Given the description of an element on the screen output the (x, y) to click on. 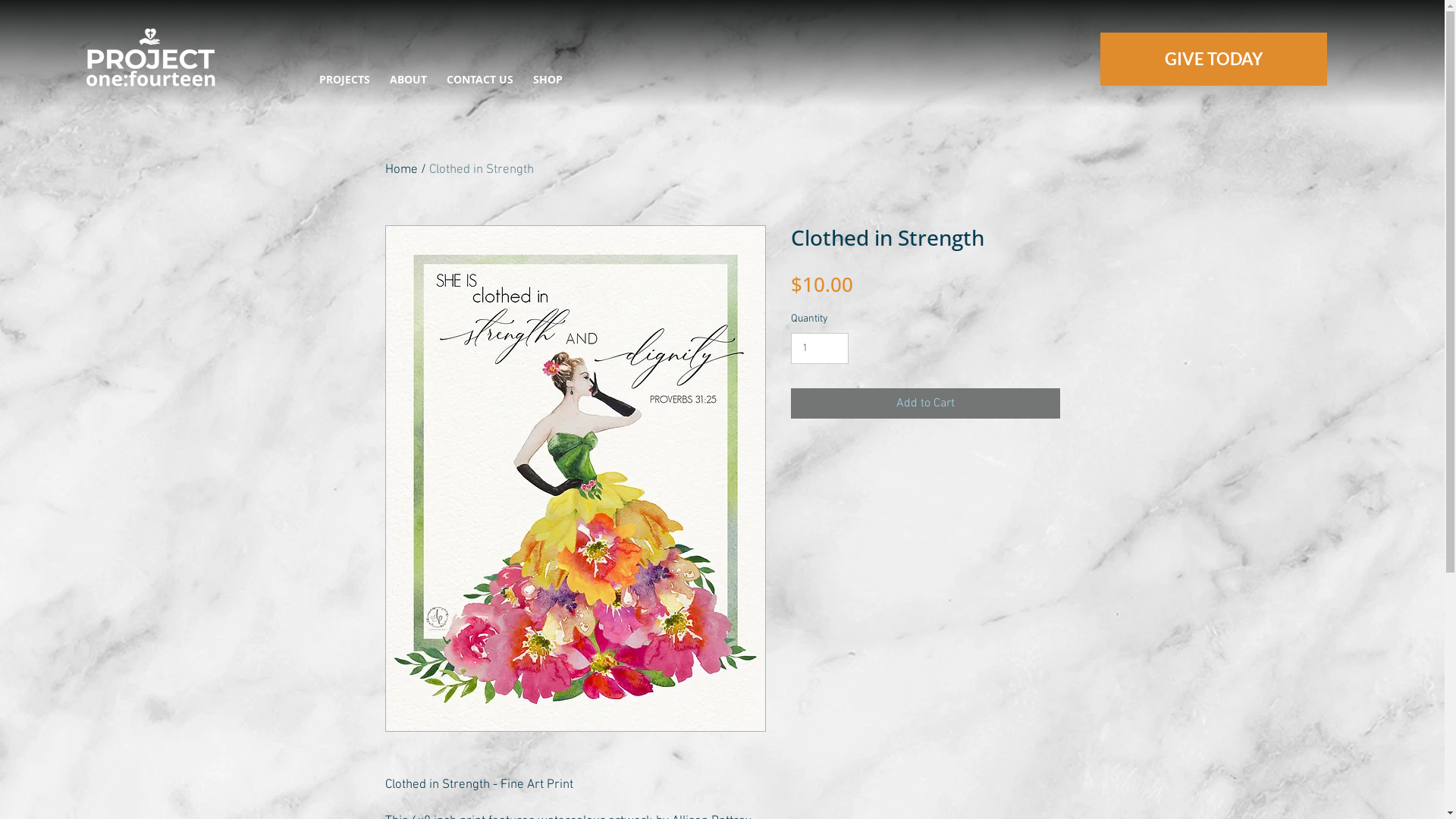
Home Element type: text (401, 169)
SHOP Element type: text (547, 79)
CONTACT US Element type: text (479, 79)
ABOUT Element type: text (407, 79)
Add to Cart Element type: text (924, 403)
GIVE TODAY Element type: text (1213, 58)
Clothed in Strength Element type: text (481, 169)
PROJECTS Element type: text (344, 79)
